Given the description of an element on the screen output the (x, y) to click on. 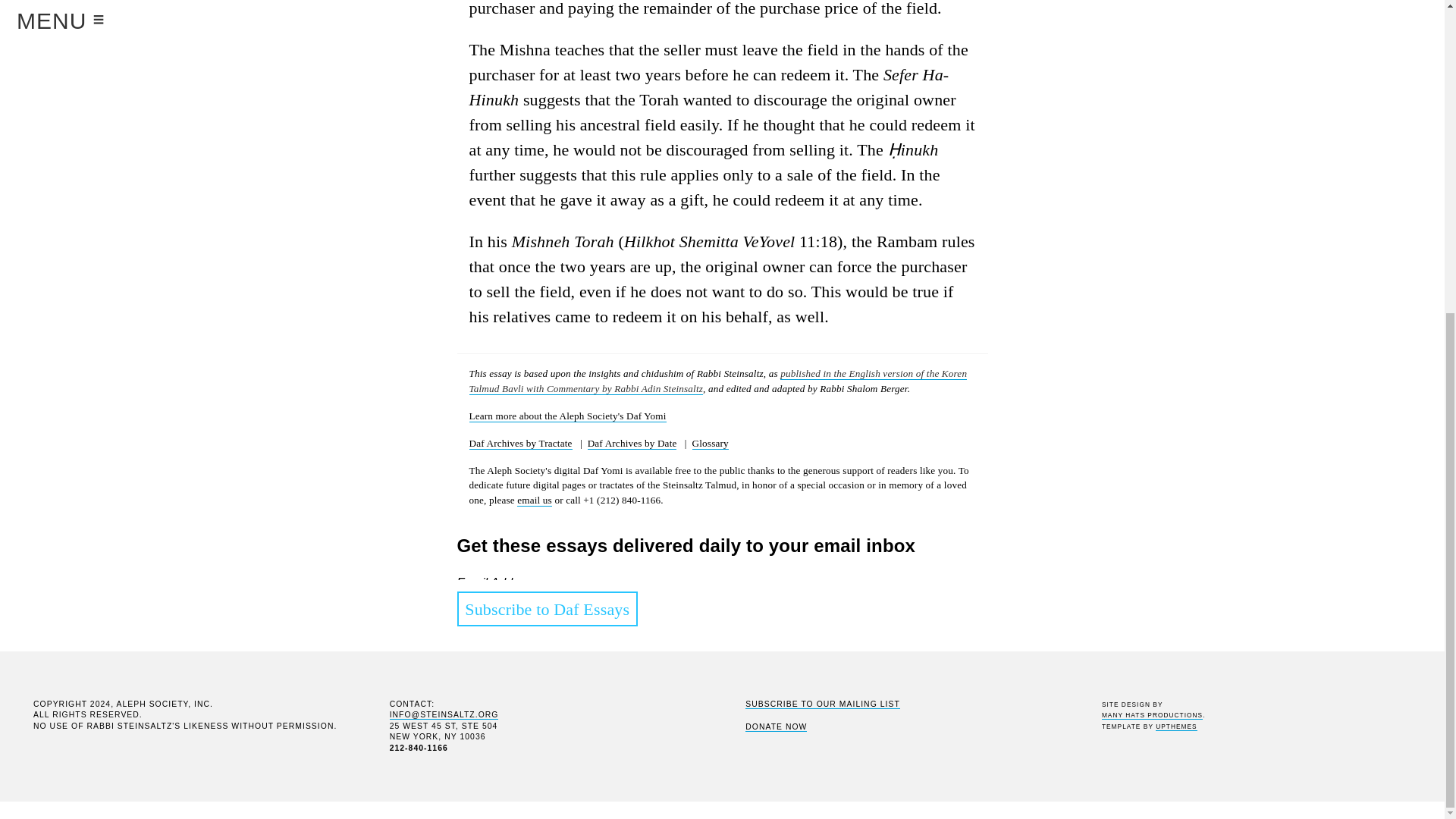
Daf Archives by Tractate (520, 443)
email us (533, 500)
Subscribe (490, 793)
Subscribe to Daf Essays (547, 608)
Glossary (711, 443)
Daf Archives by Date (632, 443)
Learn more about the Aleph Society's Daf Yomi (566, 416)
